Given the description of an element on the screen output the (x, y) to click on. 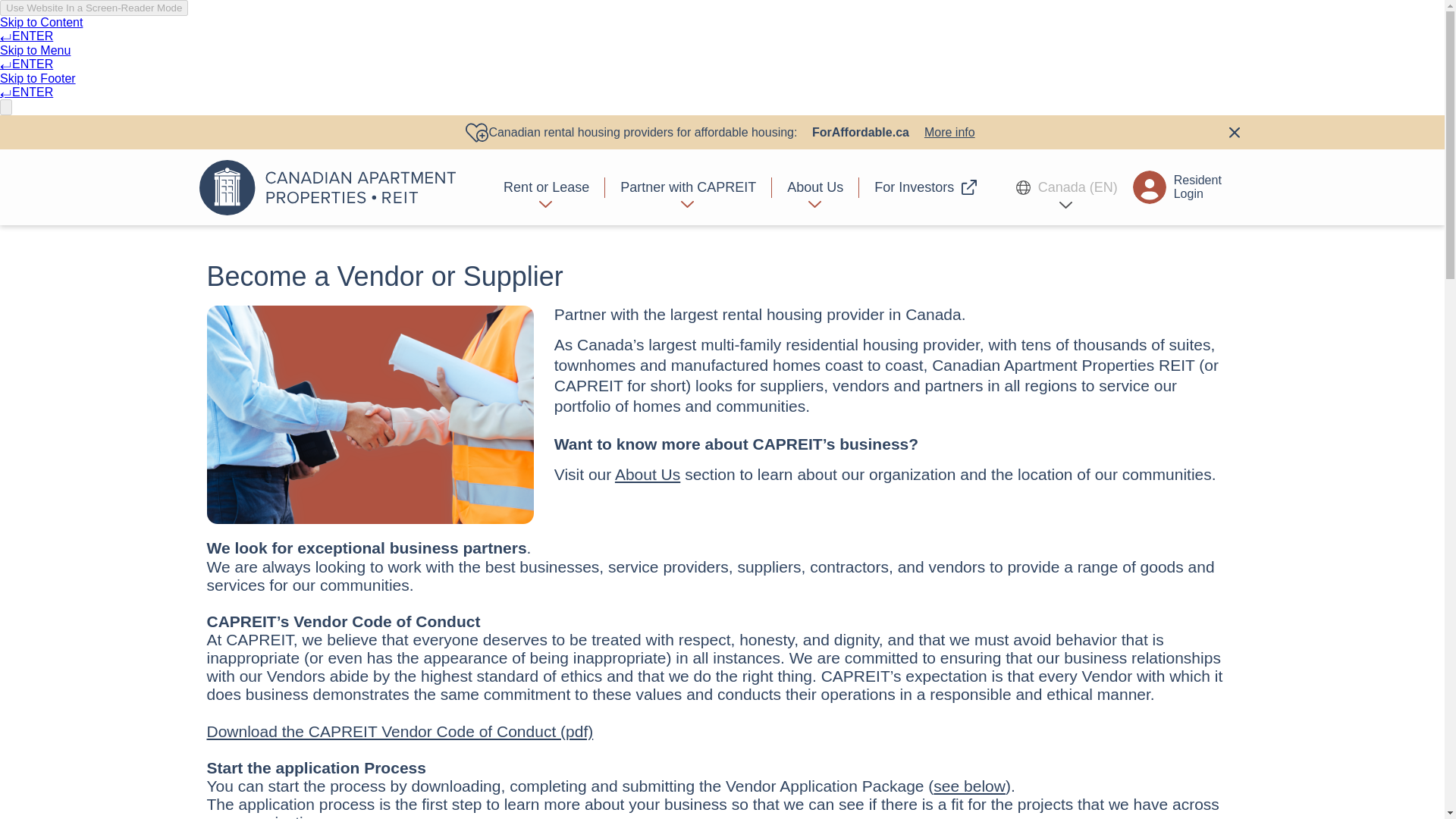
Partner with CAPREIT (688, 187)
Rent or Lease (546, 187)
For Investors (917, 187)
Close (1233, 132)
Canadian Apartment Properties REIT (331, 186)
About Us (815, 187)
Resident Login (1176, 186)
More info (949, 132)
